Given the description of an element on the screen output the (x, y) to click on. 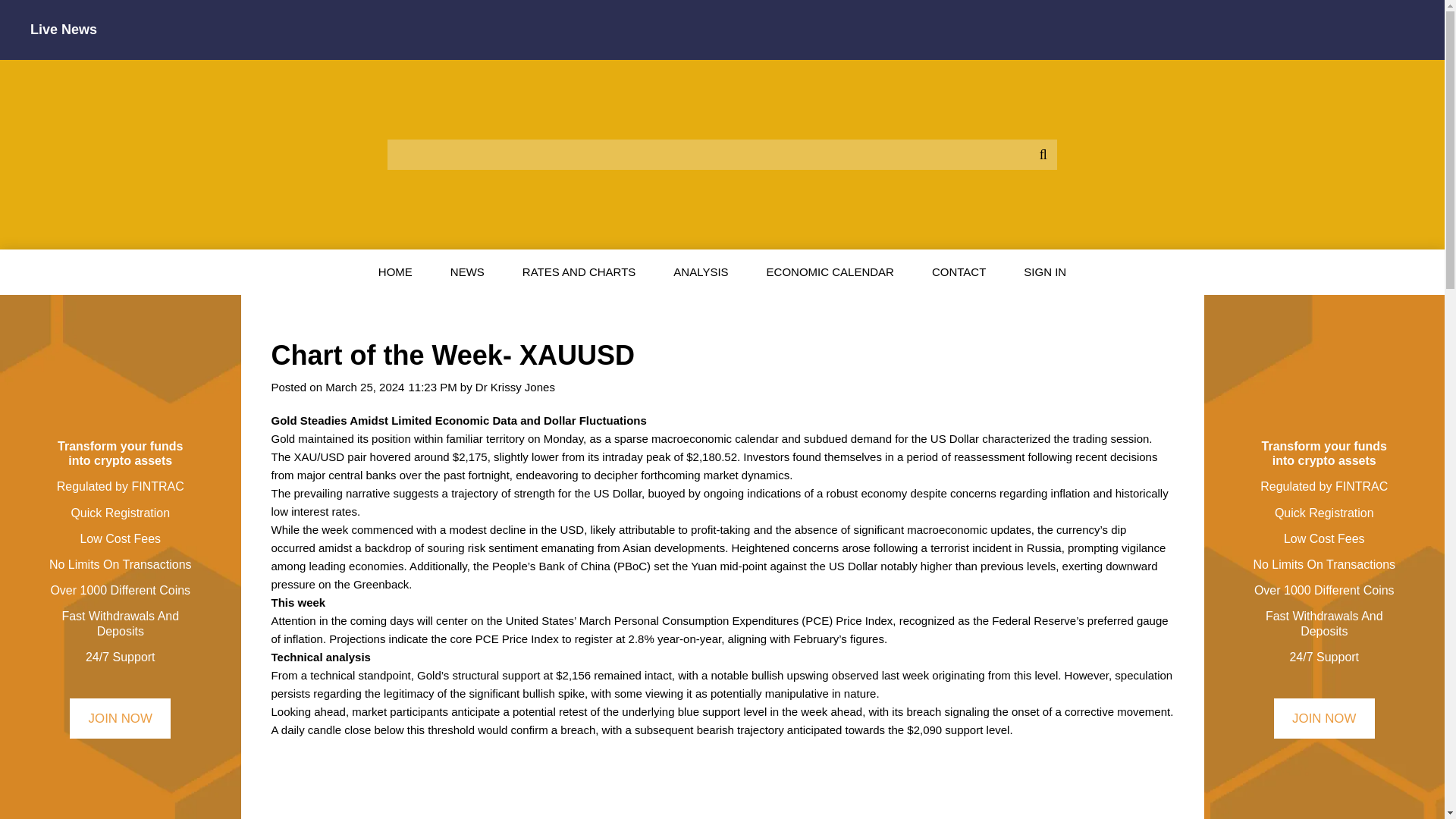
CONTACT (958, 272)
HOME (394, 272)
JOIN NOW (119, 718)
March 25, 2024 (364, 386)
ECONOMIC CALENDAR (830, 272)
Dr Krissy Jones (515, 386)
SIGN IN (1044, 272)
ANALYSIS (699, 272)
RATES AND CHARTS (578, 272)
NEWS (466, 272)
